Given the description of an element on the screen output the (x, y) to click on. 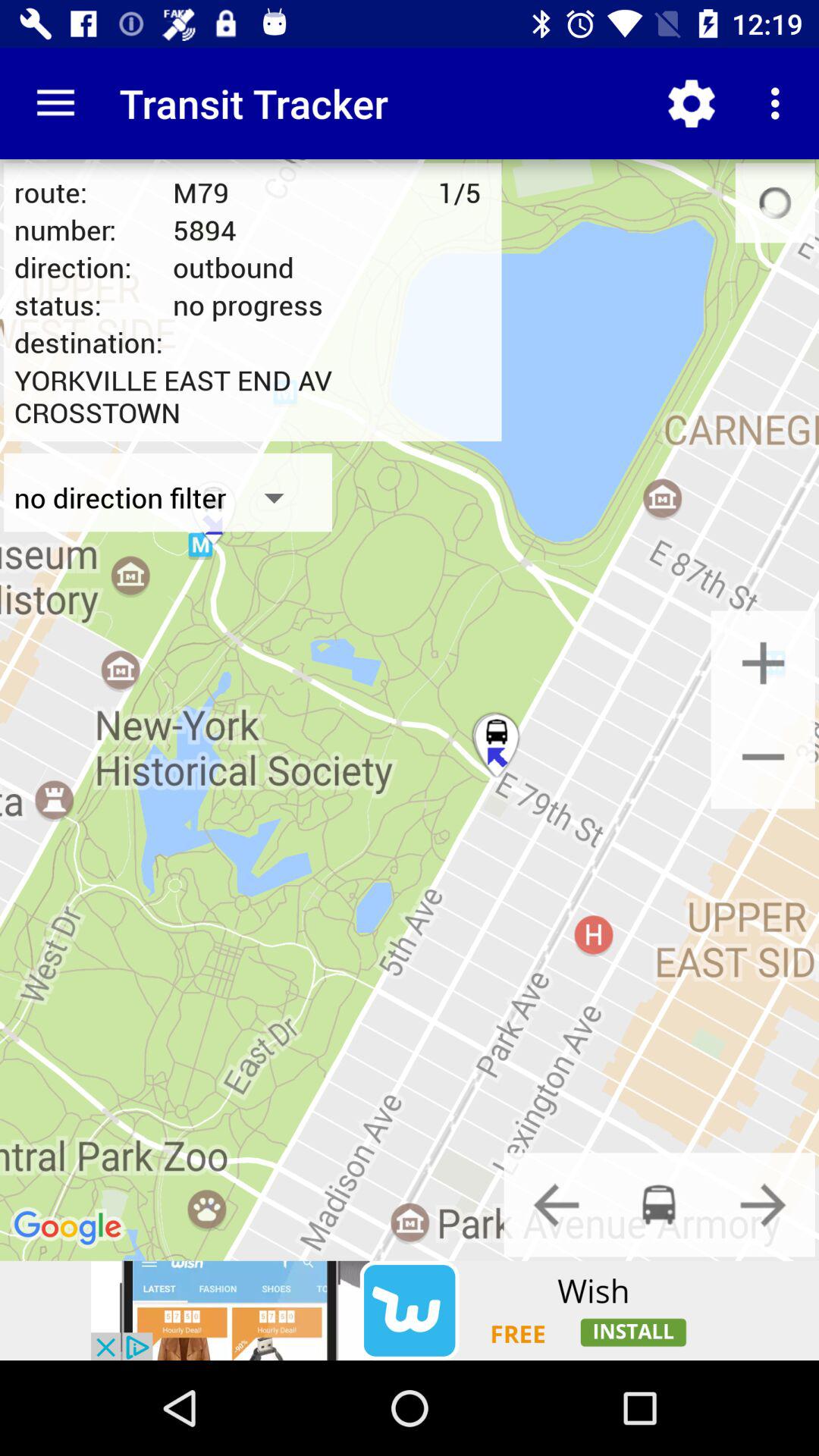
to minimize (762, 756)
